Given the description of an element on the screen output the (x, y) to click on. 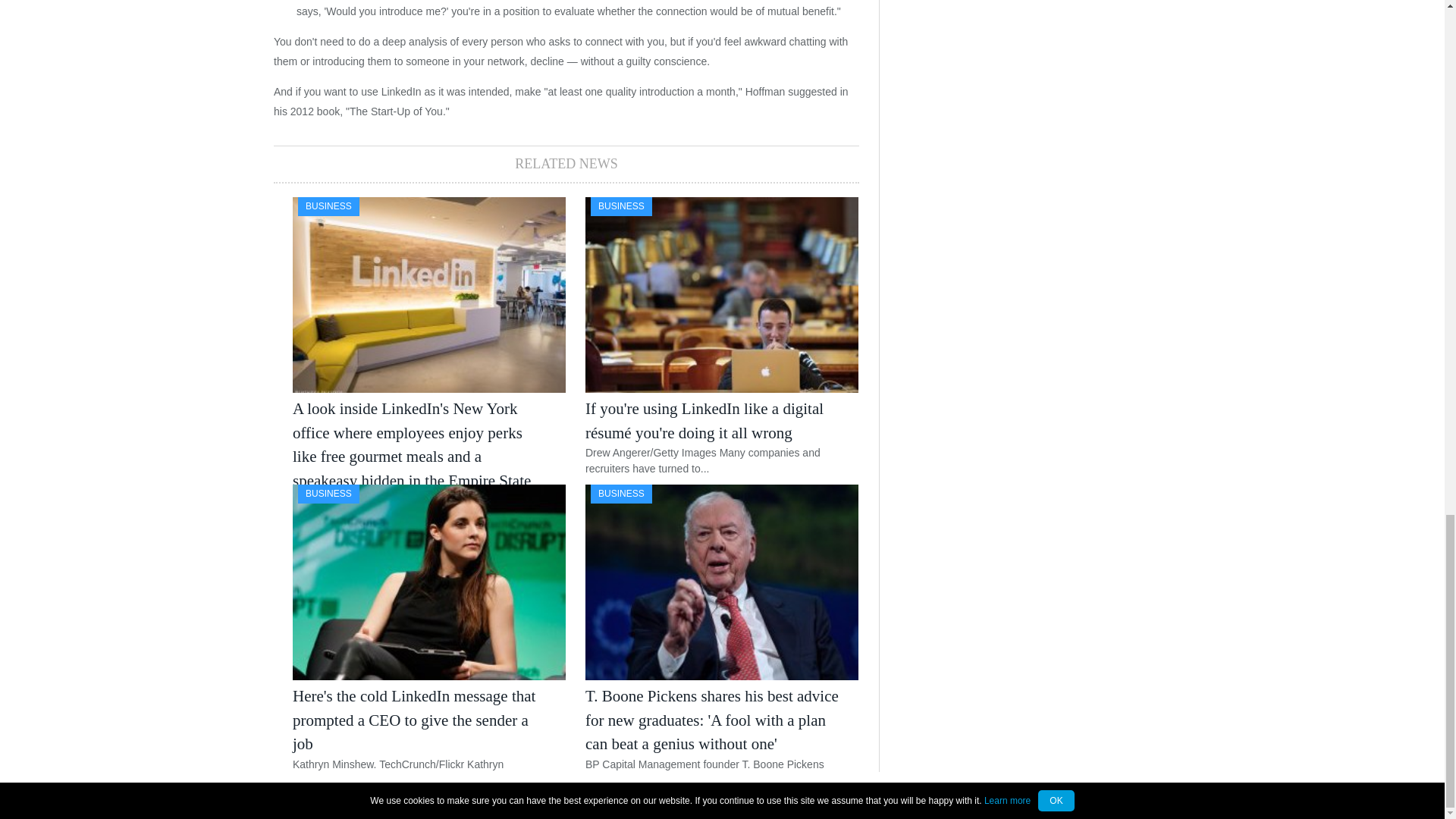
Cookie Policy (1085, 799)
BUSINESS (621, 493)
BUSINESS (328, 205)
Privacy Policy (1009, 799)
TheBestBusines (419, 799)
BUSINESS (621, 205)
BUSINESS (328, 493)
About Us (1150, 799)
